Given the description of an element on the screen output the (x, y) to click on. 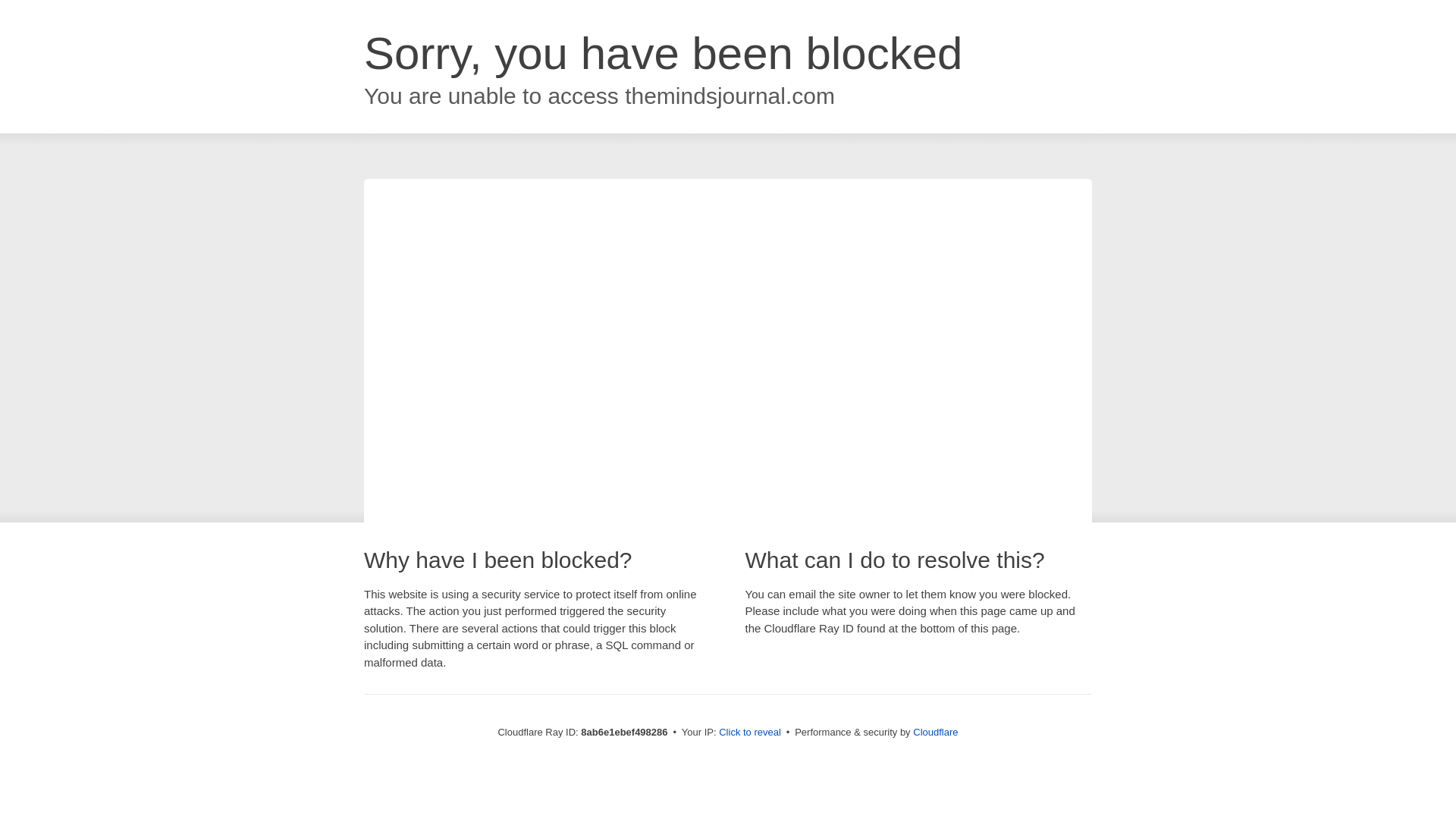
Click to reveal (749, 732)
Cloudflare (935, 731)
